Given the description of an element on the screen output the (x, y) to click on. 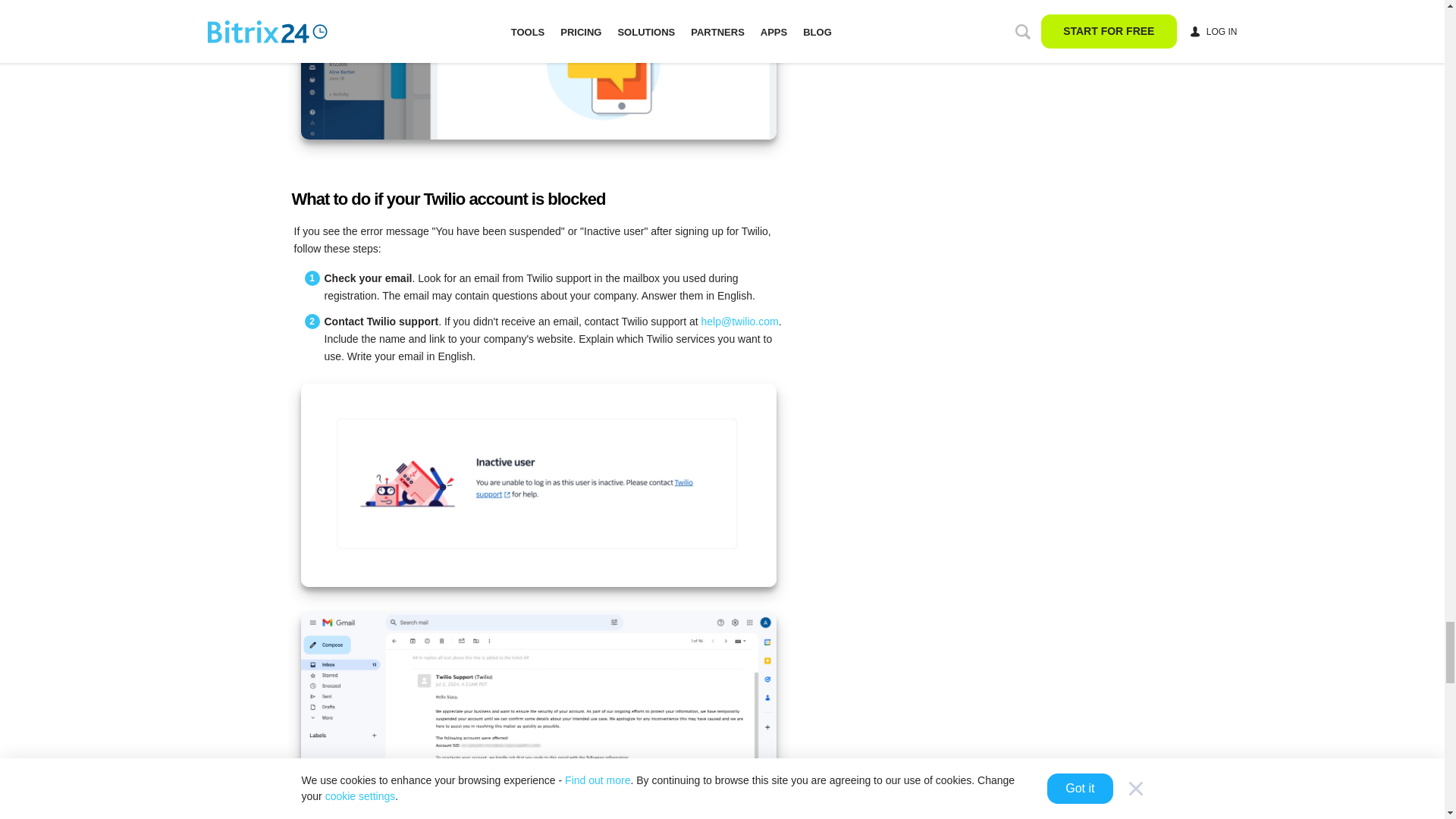
Reset settings (537, 69)
